Given the description of an element on the screen output the (x, y) to click on. 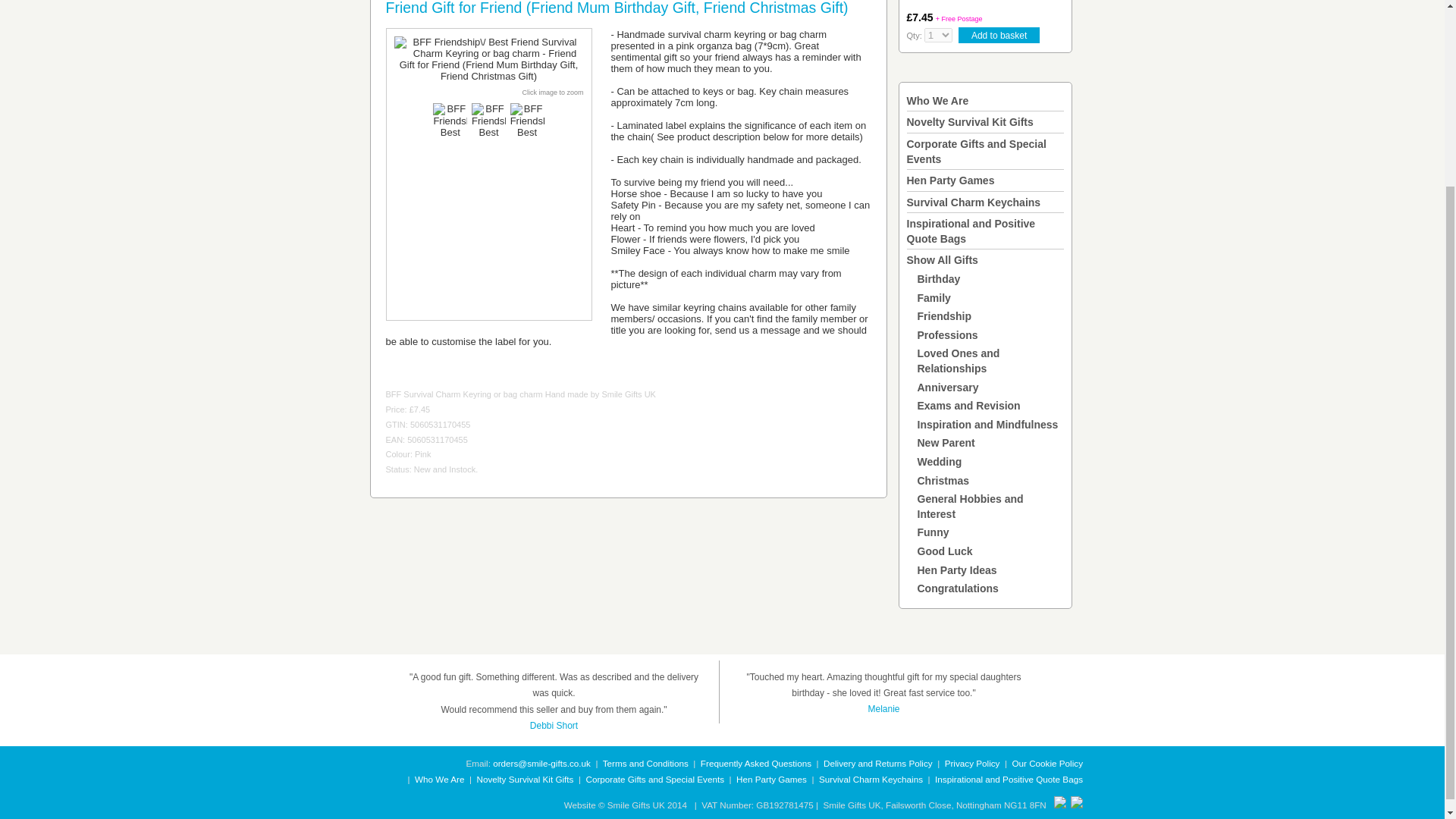
Survival Charm Keychains (974, 202)
Hen Party Games (950, 180)
Corporate Gifts and Special Events (976, 151)
Add to basket (998, 35)
Who We Are (938, 101)
Inspirational and Positive Quote Bags (971, 230)
Add to basket (998, 35)
Click image to zoom (552, 92)
Show All Gifts (942, 259)
Novelty Survival Kit Gifts (970, 121)
